Given the description of an element on the screen output the (x, y) to click on. 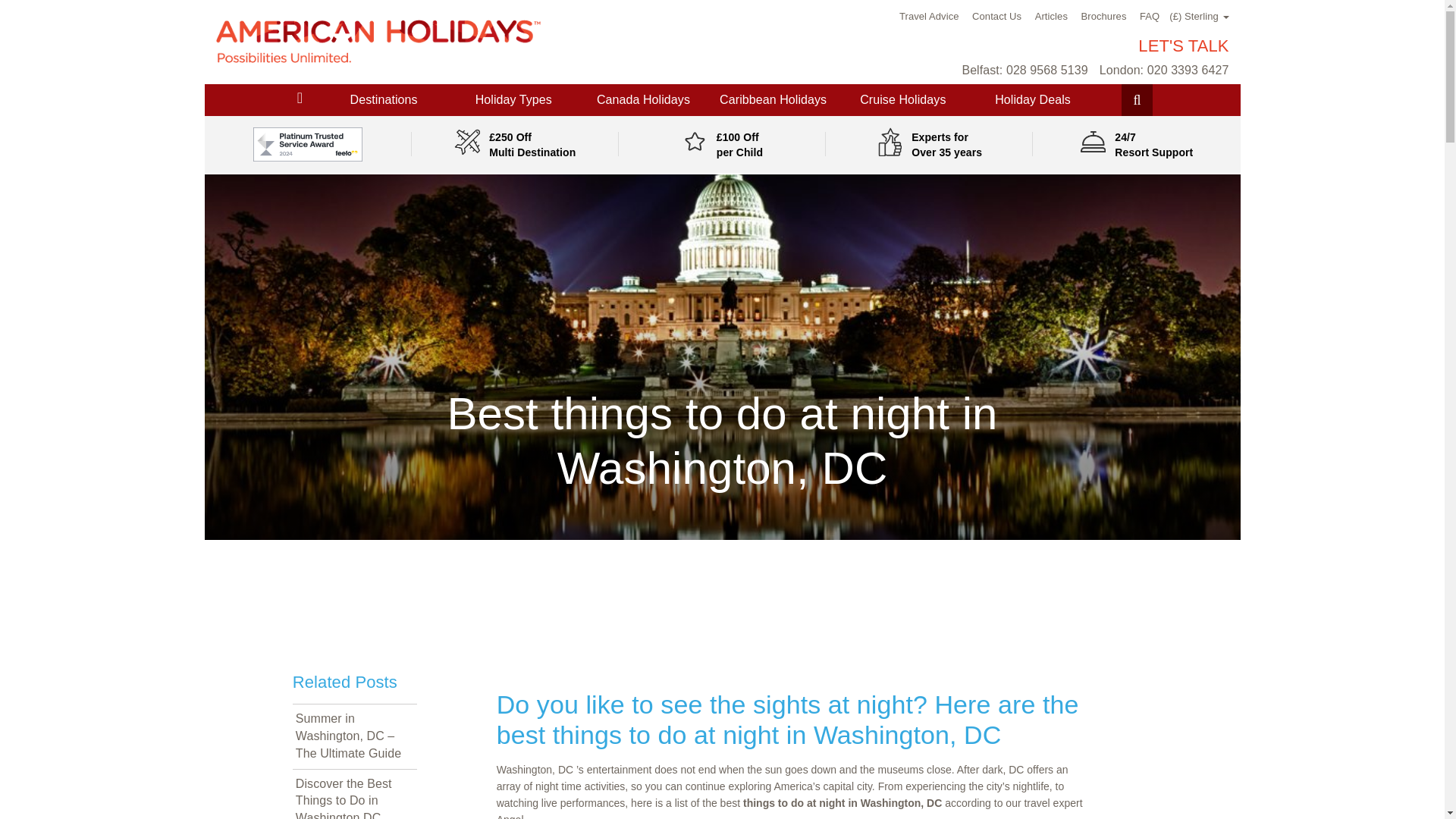
Cruise Holidays (902, 100)
Contact Us (997, 16)
Travel Advice (929, 16)
Destinations (383, 100)
Holiday Types (513, 100)
Brochures (1103, 16)
Caribbean Holidays (773, 100)
FAQ (1149, 16)
Destinations (383, 100)
Articles (1051, 16)
Canada Holidays (643, 100)
